Given the description of an element on the screen output the (x, y) to click on. 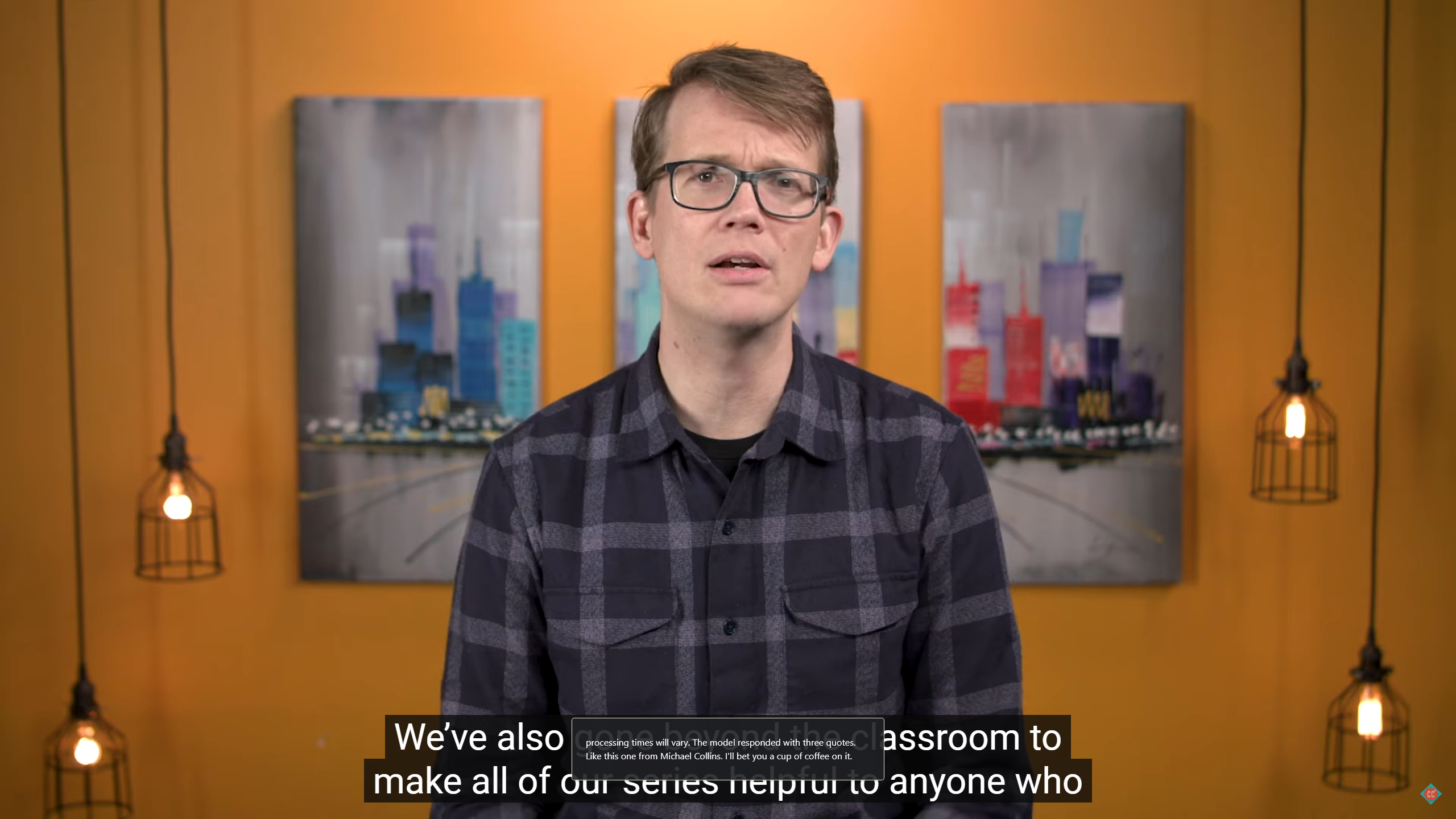
Pause (k) (32, 803)
Subtitles/closed captions unavailable (1364, 803)
Full screen keyboard shortcut f (1427, 803)
Channel watermark (1430, 793)
Channel watermark (1430, 793)
Mute (m) (67, 803)
Seek slider (727, 786)
